Given the description of an element on the screen output the (x, y) to click on. 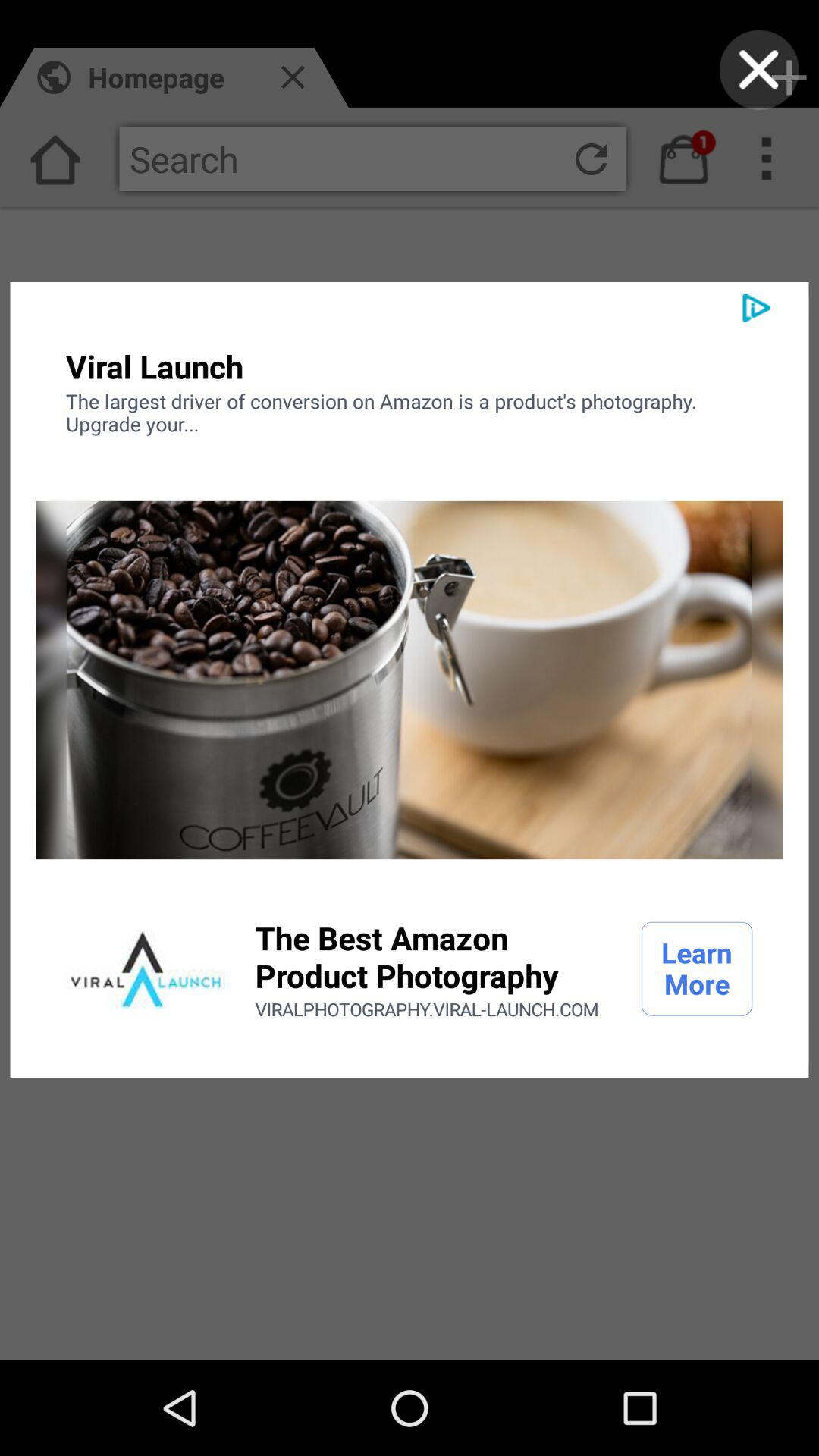
jump until learn more (696, 968)
